Given the description of an element on the screen output the (x, y) to click on. 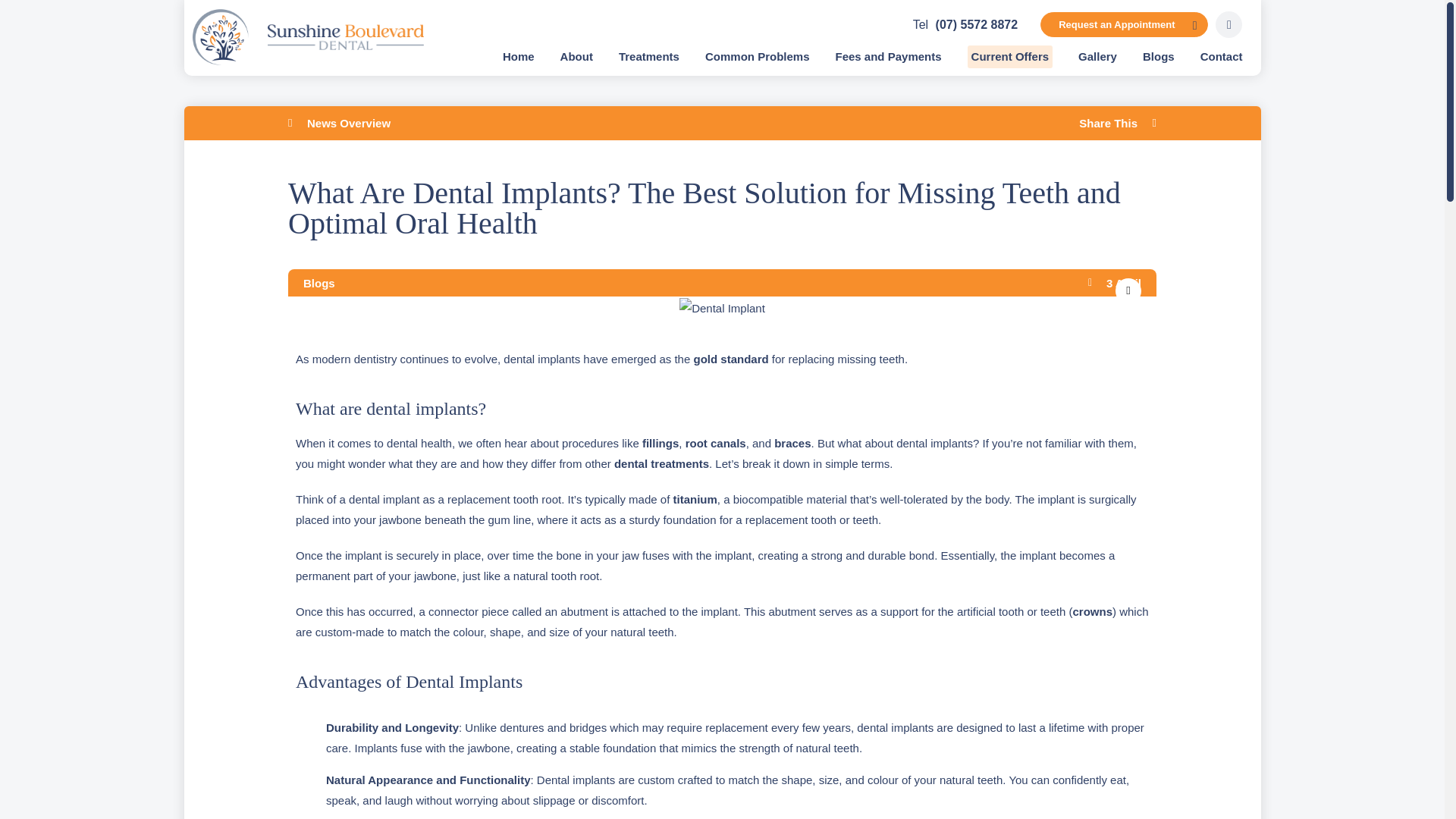
Dental implant (722, 308)
Common Problems (756, 56)
Blogs (1158, 56)
Fees and Payments (888, 56)
Sunshine Boulevard Dental (306, 60)
Home (518, 56)
Current Offers (1010, 56)
About (576, 56)
Gallery (1097, 56)
Treatments (648, 56)
Request an Appointment (1124, 24)
Contact (1221, 56)
